Given the description of an element on the screen output the (x, y) to click on. 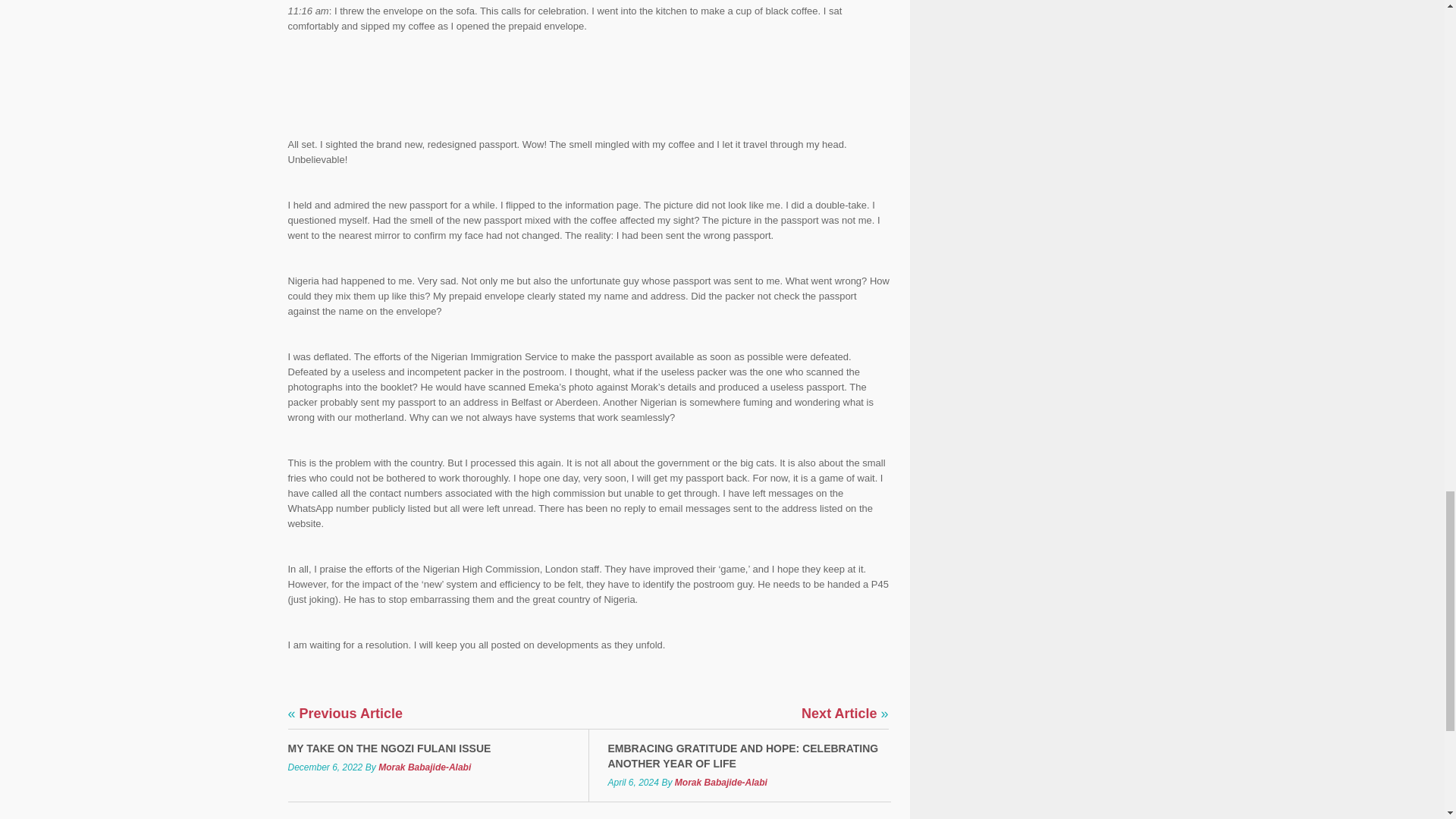
Morak Babajide-Alabi (721, 782)
Morak Babajide-Alabi (424, 767)
MY TAKE ON THE NGOZI FULANI ISSUE (428, 748)
